Given the description of an element on the screen output the (x, y) to click on. 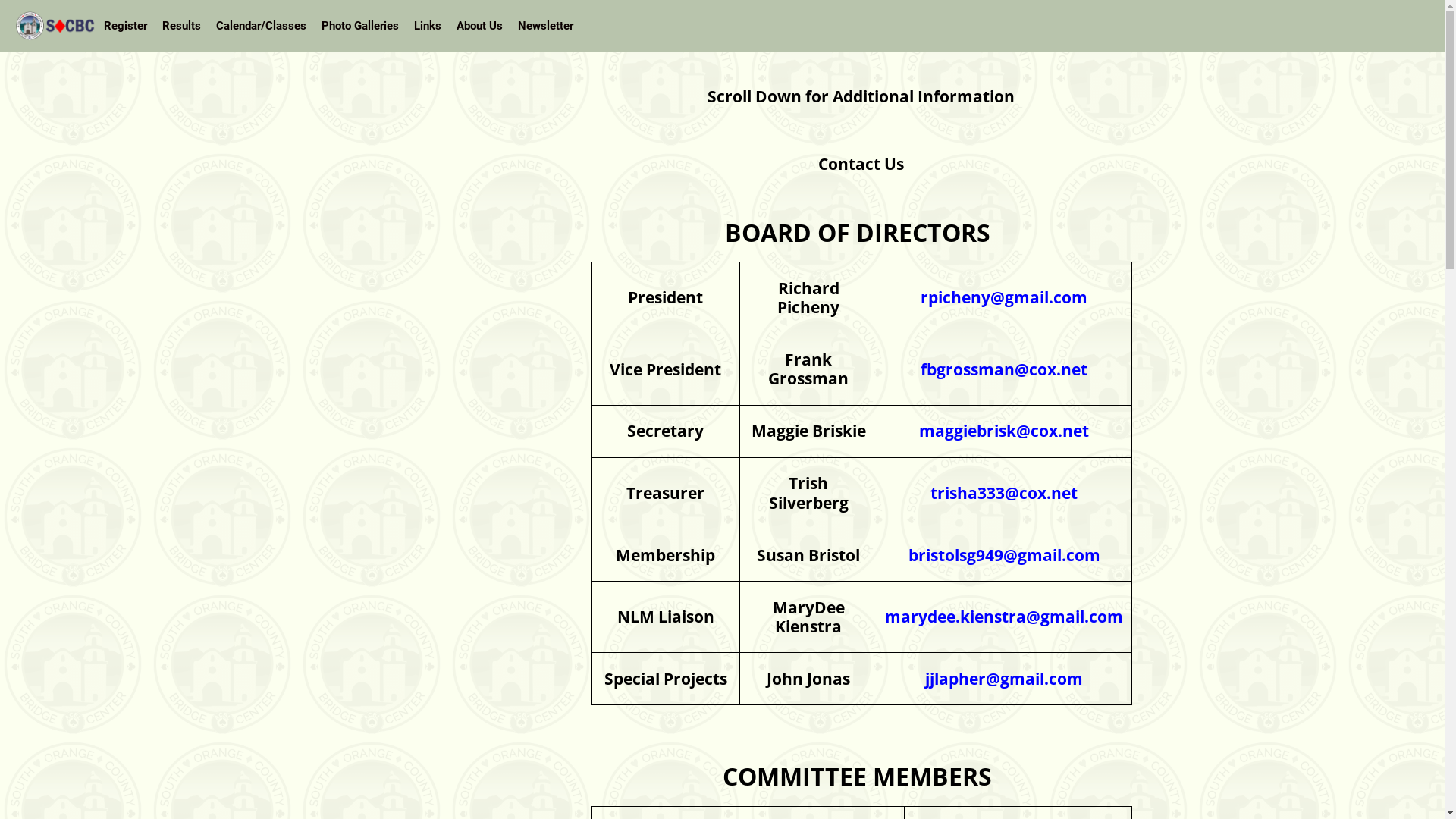
Results Element type: text (181, 25)
jjlapher@gmail.com Element type: text (1003, 678)
Photo Galleries Element type: text (359, 25)
trisha333@cox.net Element type: text (1003, 492)
fbgrossman@cox.net Element type: text (1003, 368)
Register Element type: text (125, 25)
maggiebrisk@cox.net Element type: text (1003, 430)
Calendar/Classes Element type: text (260, 25)
Links Element type: text (427, 25)
marydee.kienstra@gmail.com Element type: text (1003, 616)
rpicheny@gmail.com Element type: text (1003, 296)
bristolsg949@gmail.com Element type: text (1004, 554)
About Us Element type: text (479, 25)
Newsletter Element type: text (545, 25)
